Given the description of an element on the screen output the (x, y) to click on. 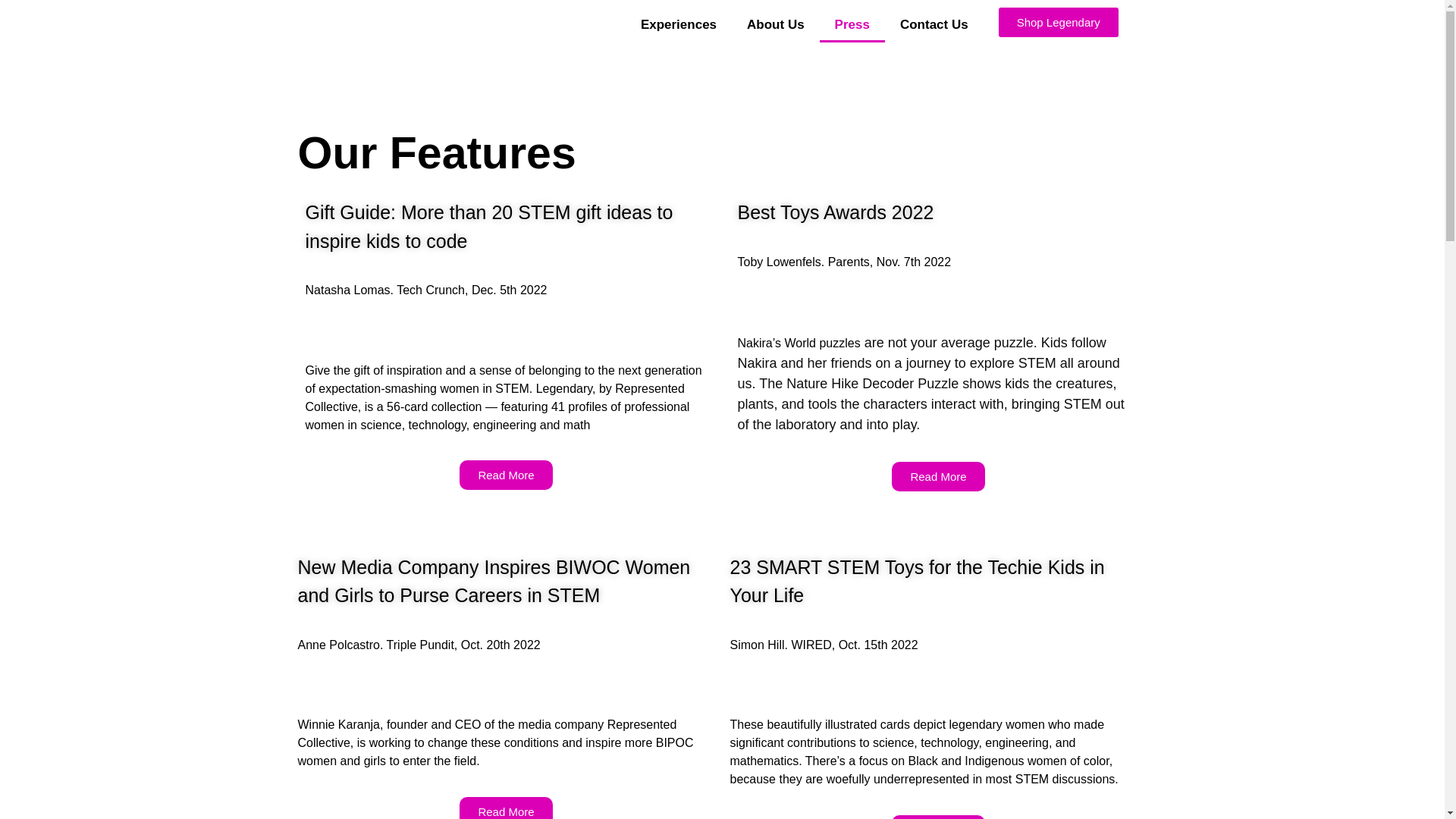
Read More (505, 807)
Shop Legendary (1058, 21)
Read More (937, 816)
Experiences (679, 24)
Press (852, 24)
About Us (775, 24)
Read More (937, 476)
Contact Us (934, 24)
Read More (505, 474)
